Given the description of an element on the screen output the (x, y) to click on. 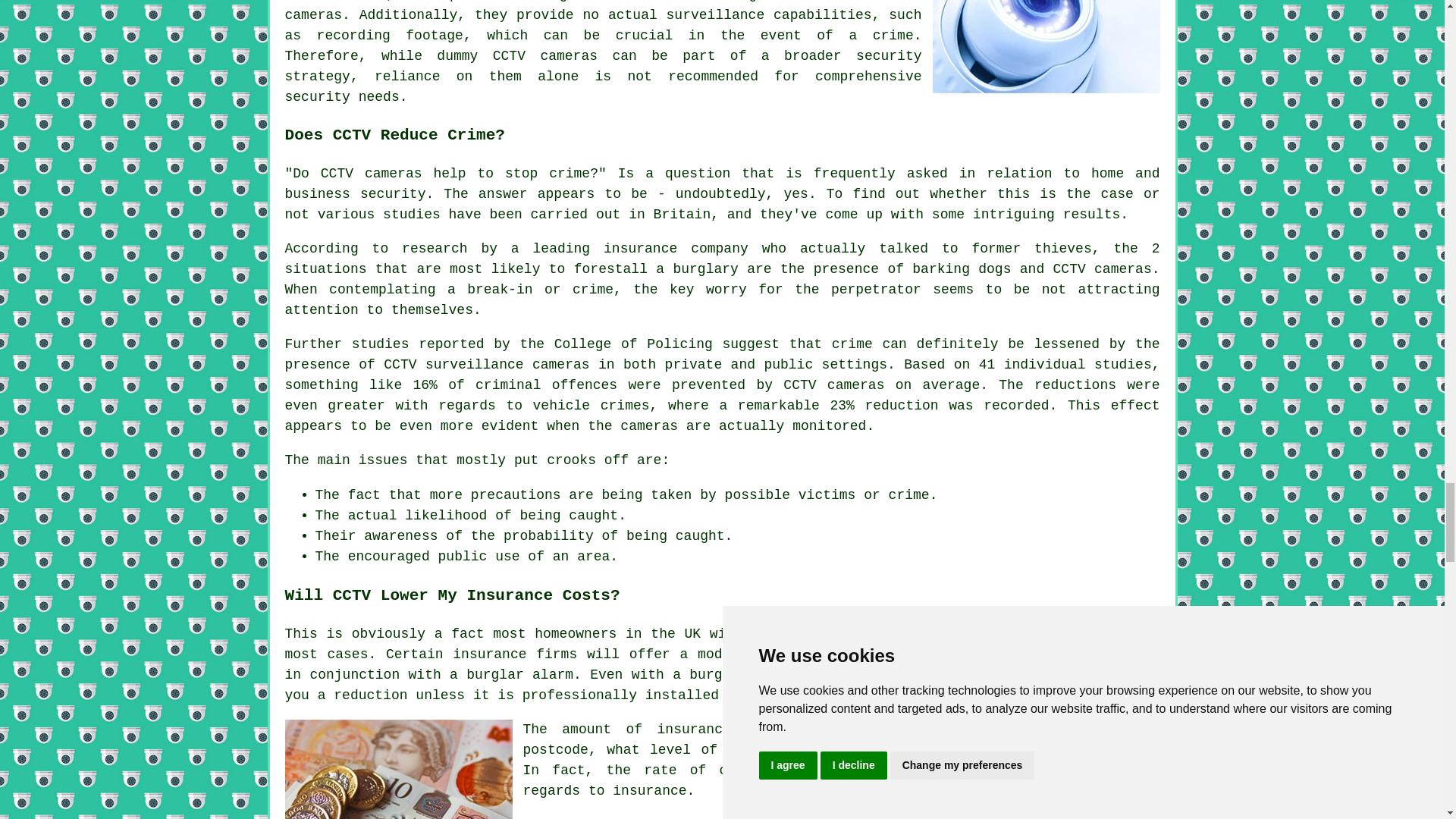
CCTV Insurance Costs UK (398, 769)
